Given the description of an element on the screen output the (x, y) to click on. 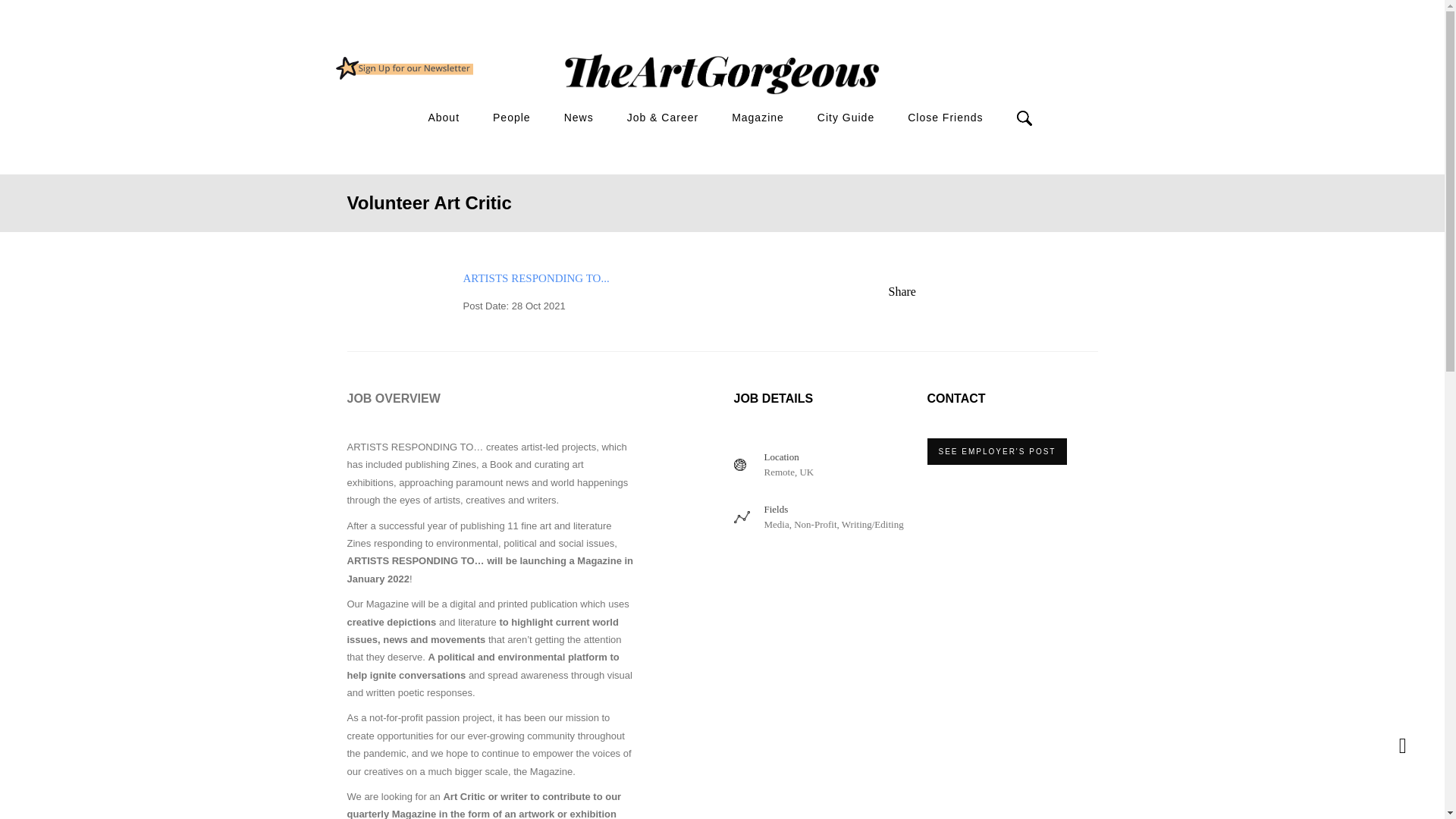
Magazine (758, 117)
City Guide (845, 117)
TheArtGorgeous (403, 67)
Close Friends (944, 117)
SEE EMPLOYER'S POST (996, 451)
search (911, 144)
About (444, 117)
Media, (778, 523)
Non-Profit, (816, 523)
News (579, 117)
People (512, 117)
